Given the description of an element on the screen output the (x, y) to click on. 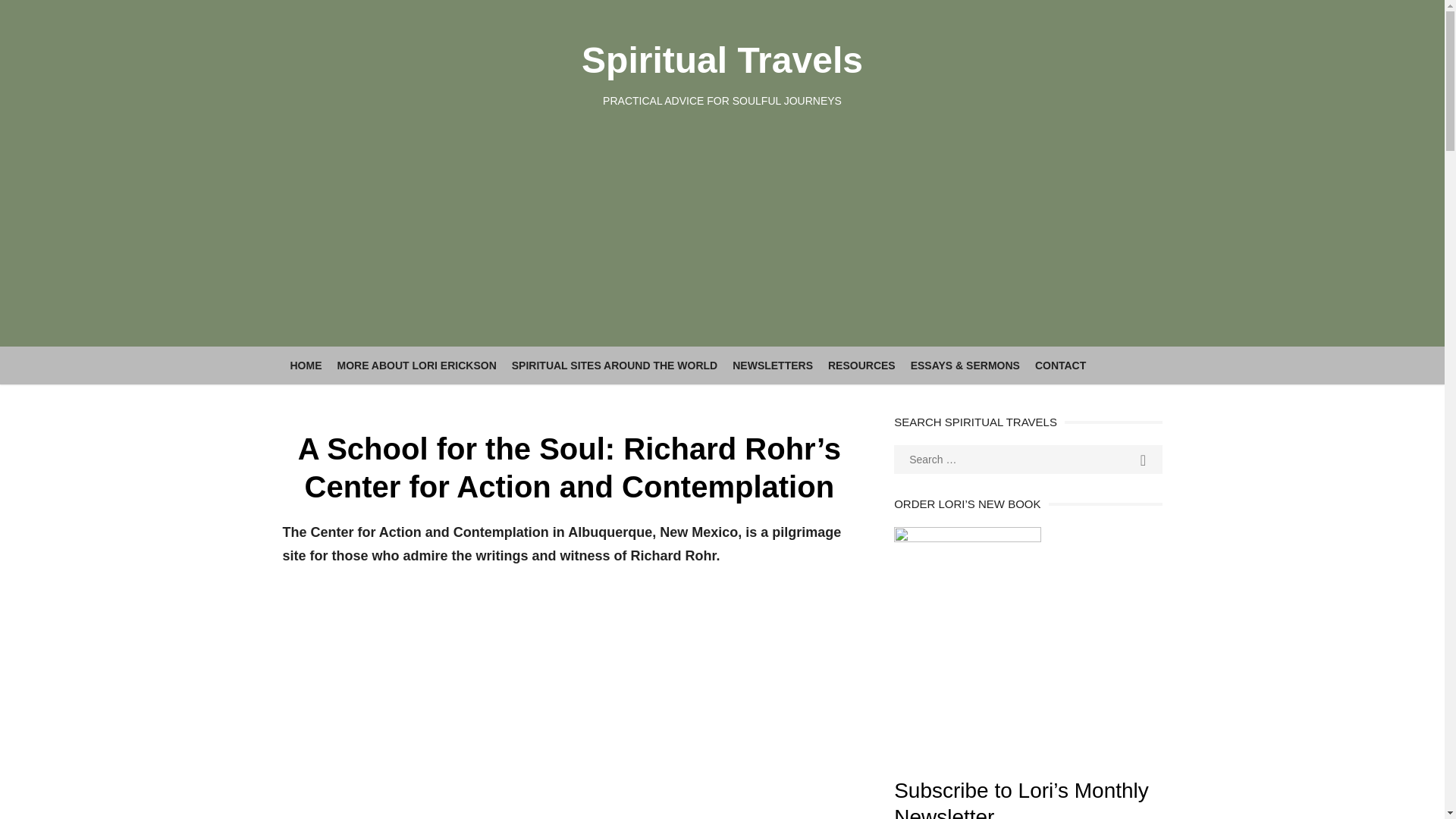
Spiritual Travels (721, 60)
SPIRITUAL SITES AROUND THE WORLD (614, 365)
RESOURCES (861, 365)
MORE ABOUT LORI ERICKSON (416, 365)
HOME (305, 365)
NEWSLETTERS (773, 365)
CONTACT (1060, 365)
